Given the description of an element on the screen output the (x, y) to click on. 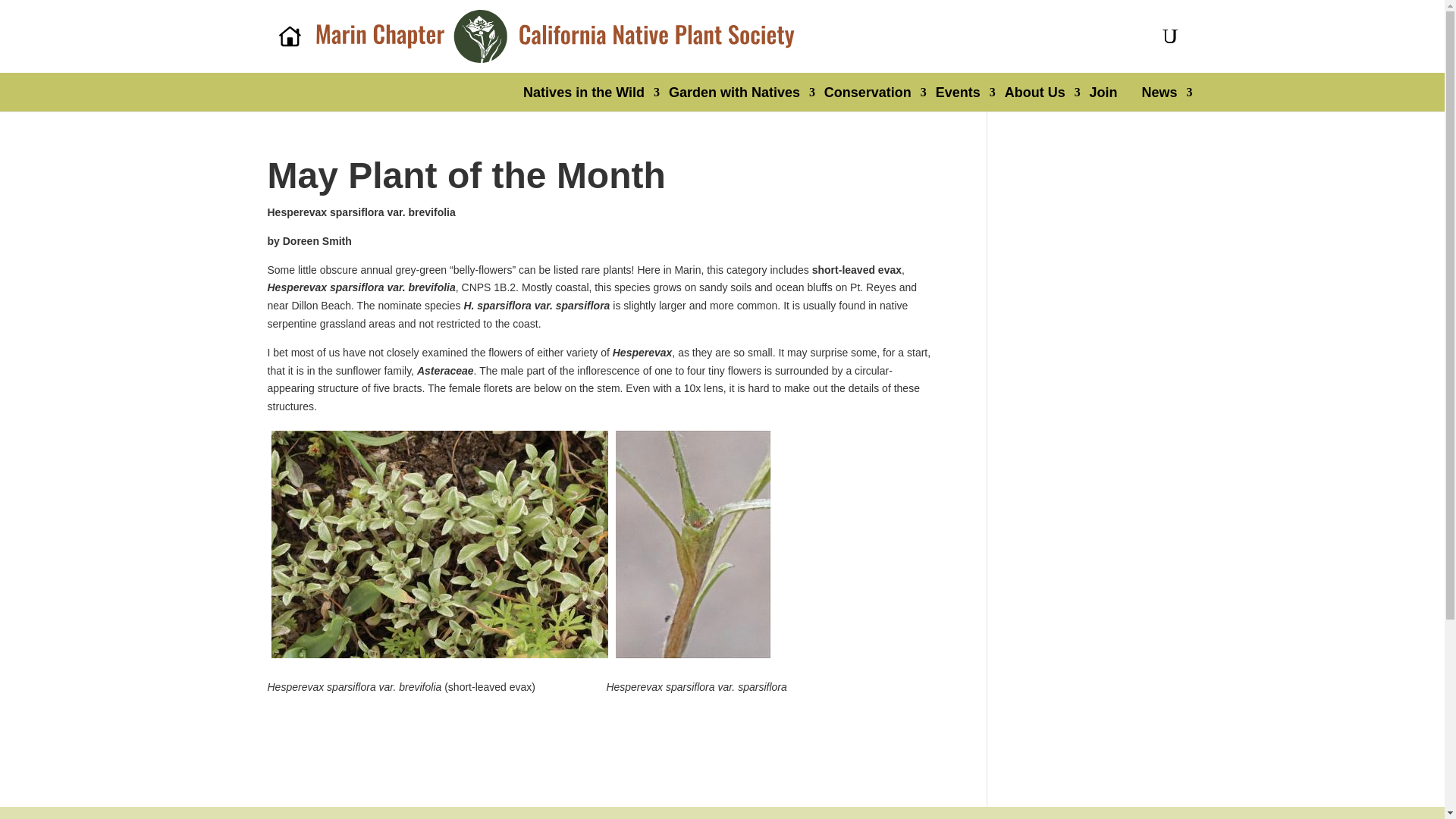
Conservation (867, 92)
Natives in the Wild (583, 92)
Garden with Natives (733, 92)
Events (957, 92)
